Given the description of an element on the screen output the (x, y) to click on. 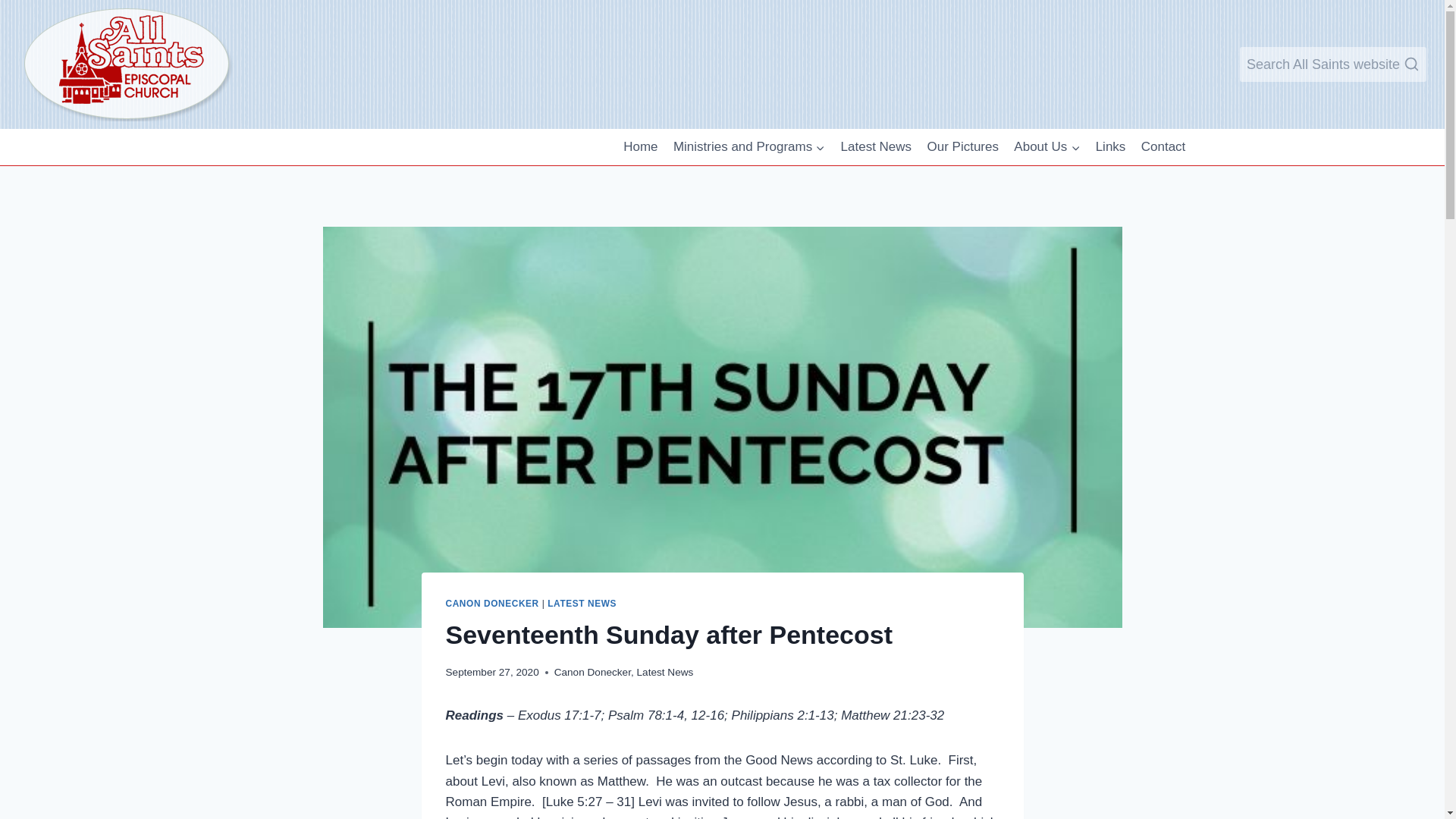
Canon Donecker (592, 672)
About Us (1046, 146)
LATEST NEWS (581, 603)
Our Pictures (962, 146)
Search All Saints website (1333, 64)
Home (640, 146)
Contact (1163, 146)
Latest News (875, 146)
Ministries and Programs (748, 146)
Links (1109, 146)
